Given the description of an element on the screen output the (x, y) to click on. 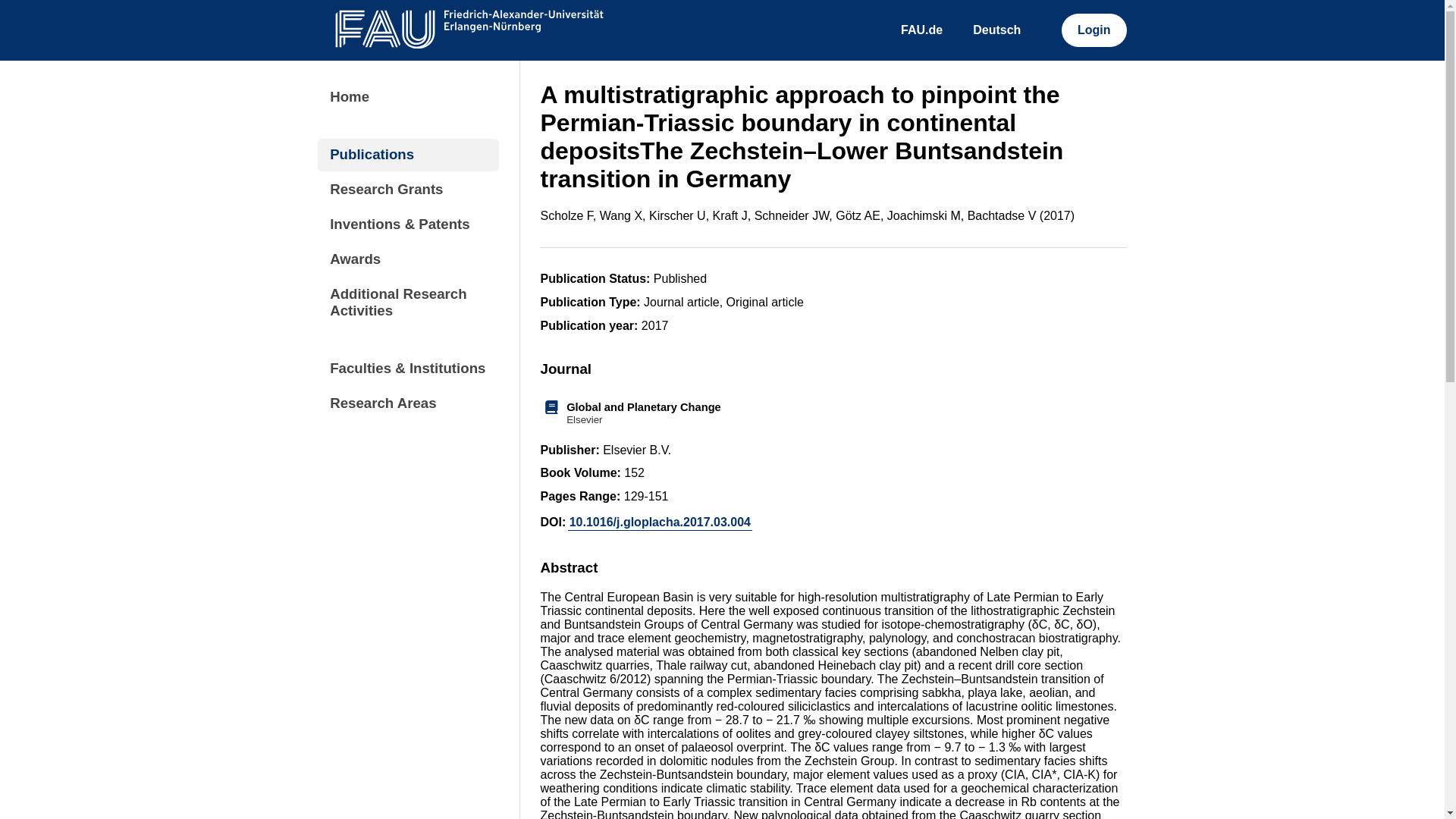
Deutsch (996, 30)
FAU.de (922, 30)
Login (1093, 30)
Awards (408, 259)
Research Areas (408, 402)
Research Grants (408, 189)
Additional Research Activities (408, 301)
Publications (408, 154)
Home (833, 413)
